Given the description of an element on the screen output the (x, y) to click on. 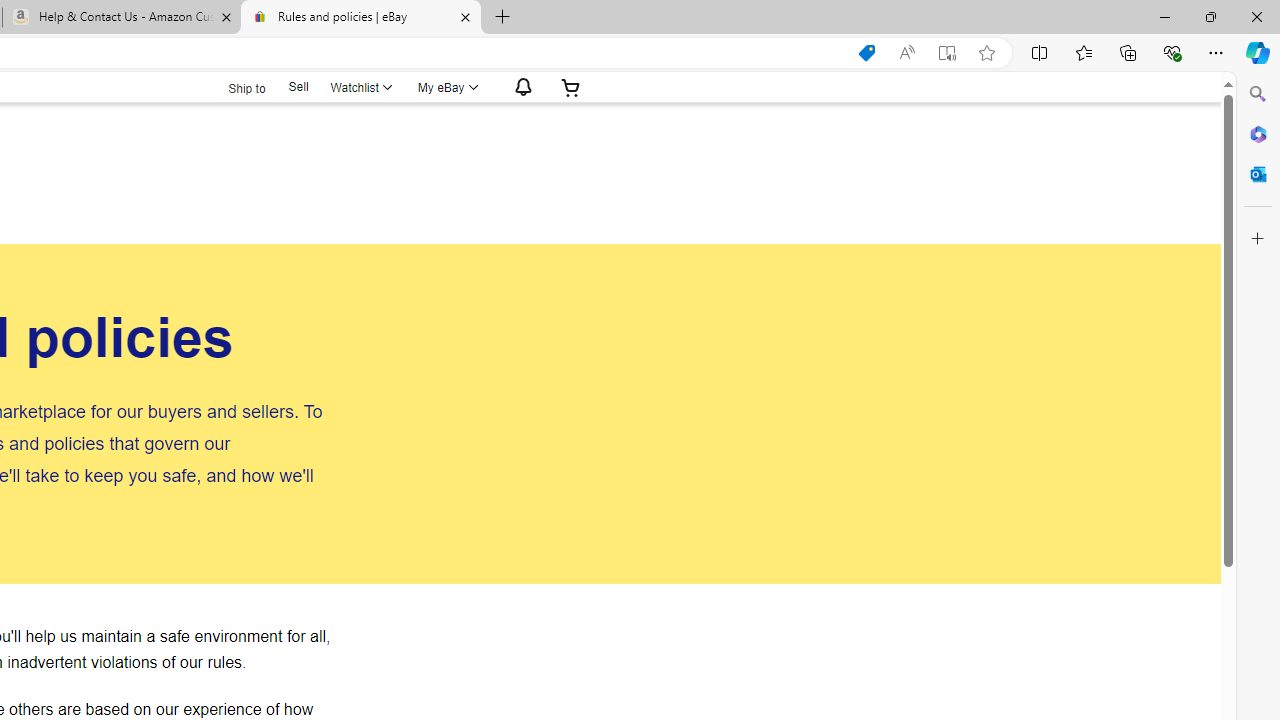
Your shopping cart (570, 87)
